Given the description of an element on the screen output the (x, y) to click on. 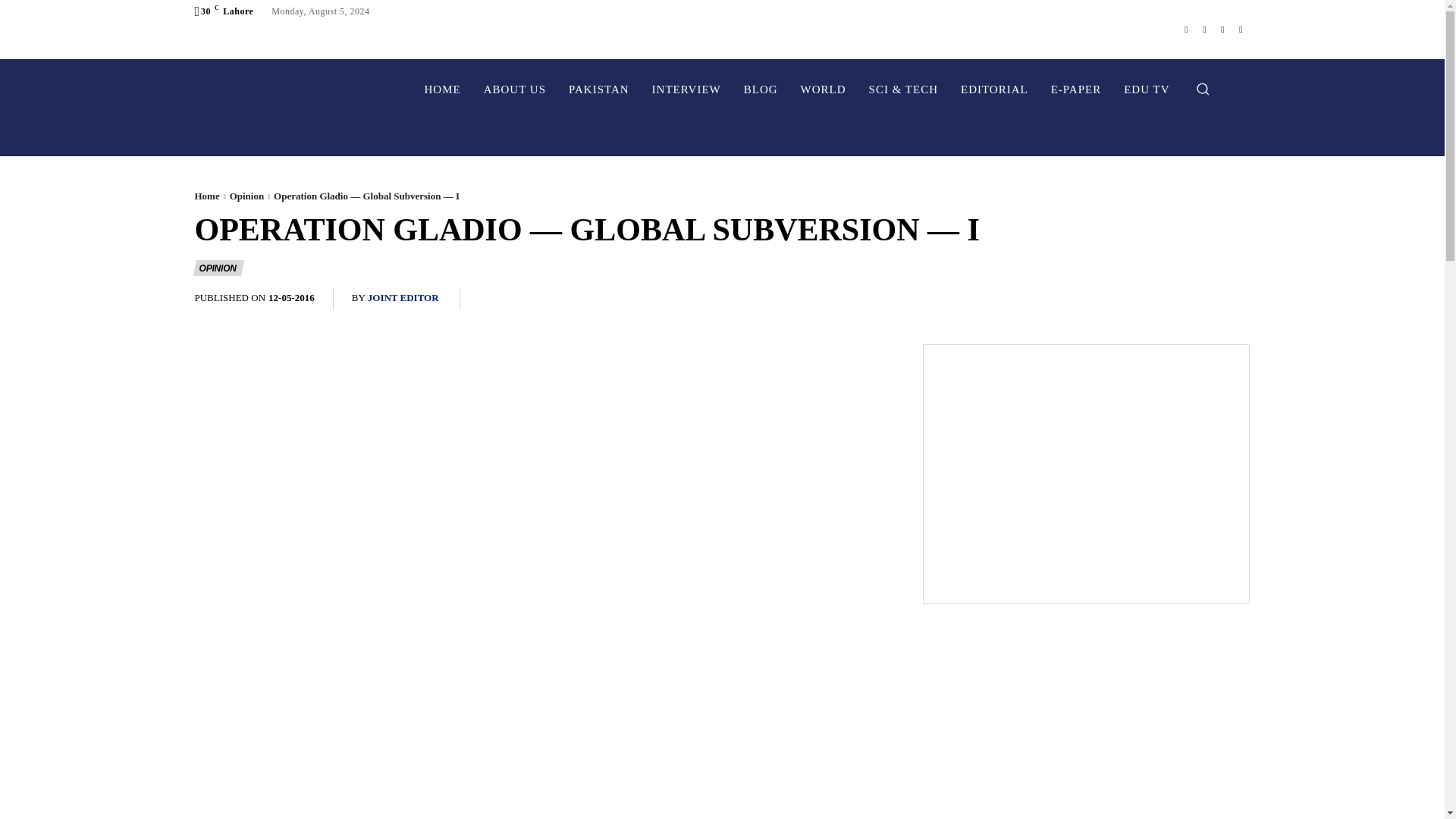
PAKISTAN (598, 89)
ABOUT US (514, 89)
BLOG (760, 89)
INTERVIEW (686, 89)
HOME (441, 89)
RSS (1221, 29)
Instagram (1203, 29)
Youtube (1240, 29)
WORLD (823, 89)
Facebook (1185, 29)
